Given the description of an element on the screen output the (x, y) to click on. 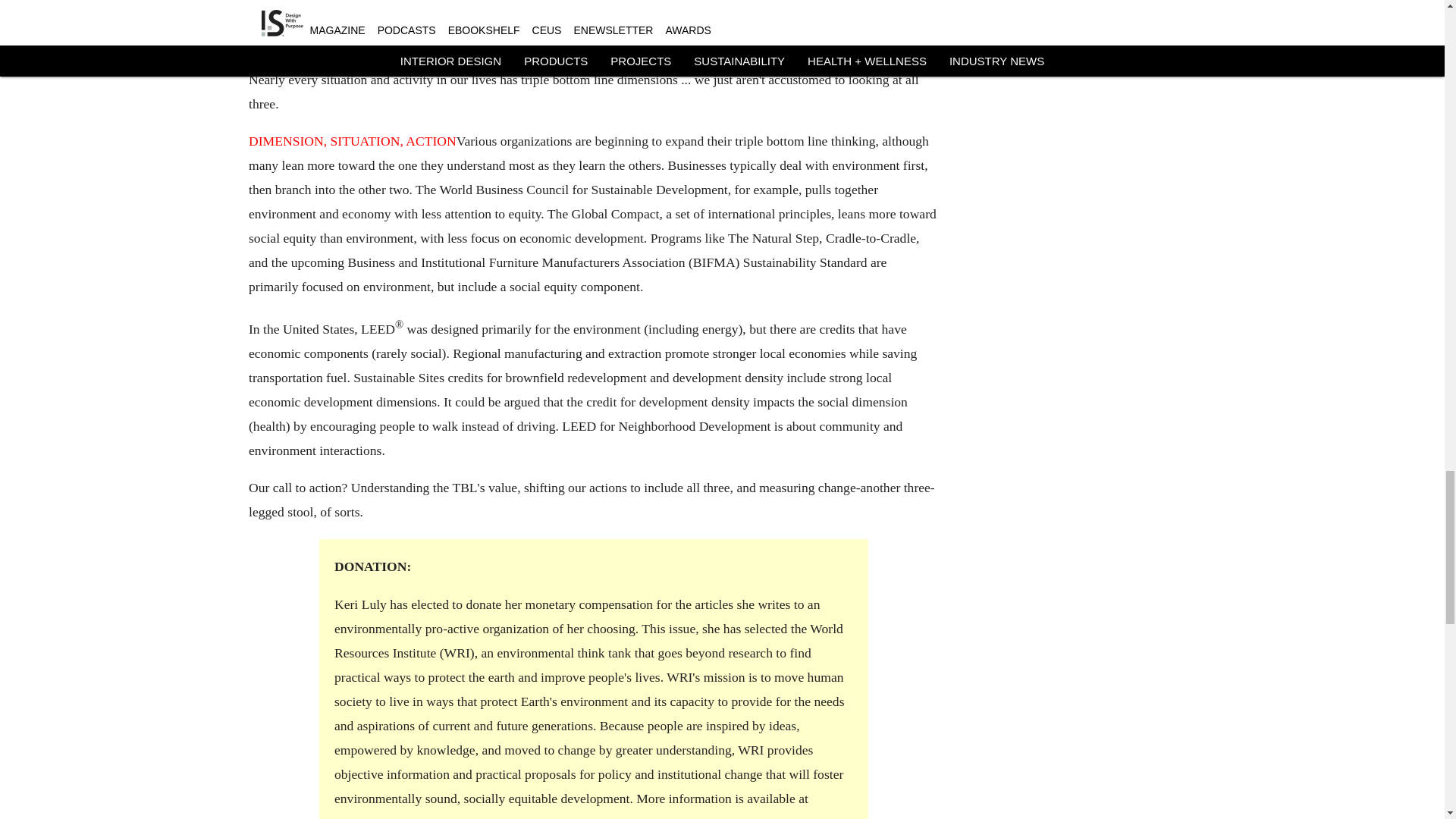
www.wri.org (368, 816)
